Given the description of an element on the screen output the (x, y) to click on. 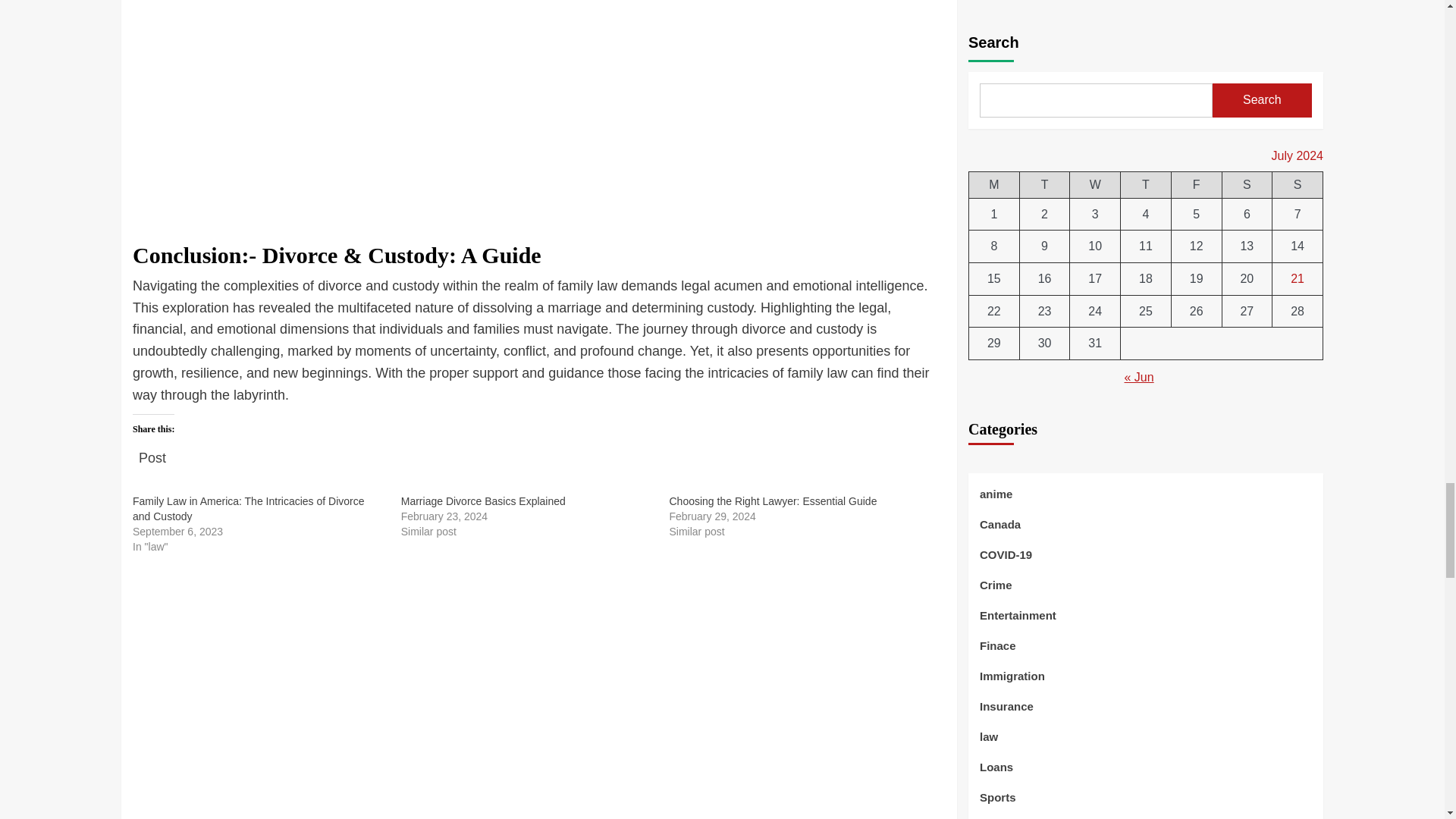
Post (151, 450)
Choosing the Right Lawyer: Essential Guide (772, 500)
Choosing the Right Lawyer: Essential Guide (772, 500)
Marriage Divorce Basics Explained (483, 500)
Marriage Divorce Basics Explained (483, 500)
